Given the description of an element on the screen output the (x, y) to click on. 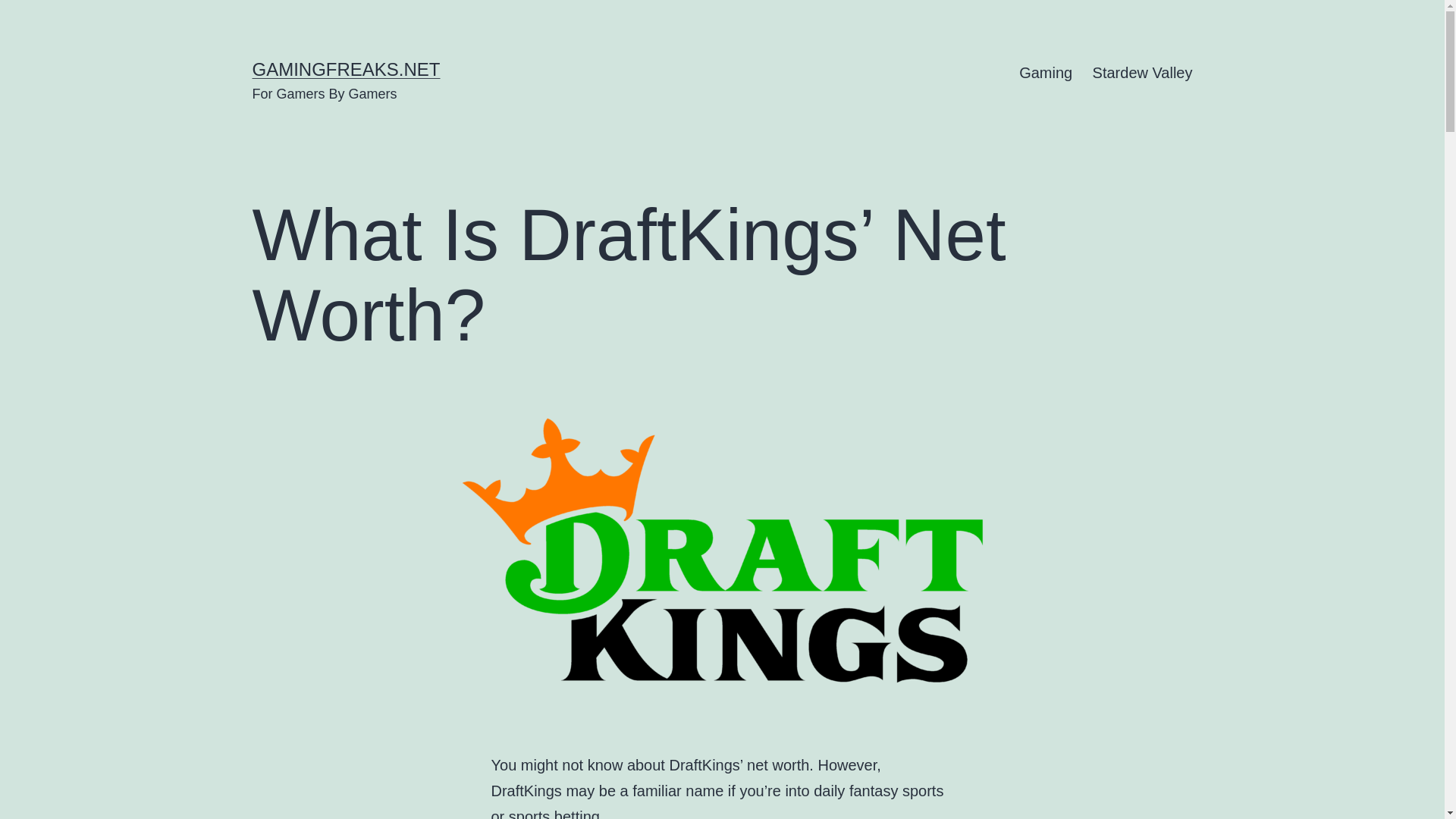
Gaming (1045, 72)
Stardew Valley (1141, 72)
GAMINGFREAKS.NET (345, 68)
